Given the description of an element on the screen output the (x, y) to click on. 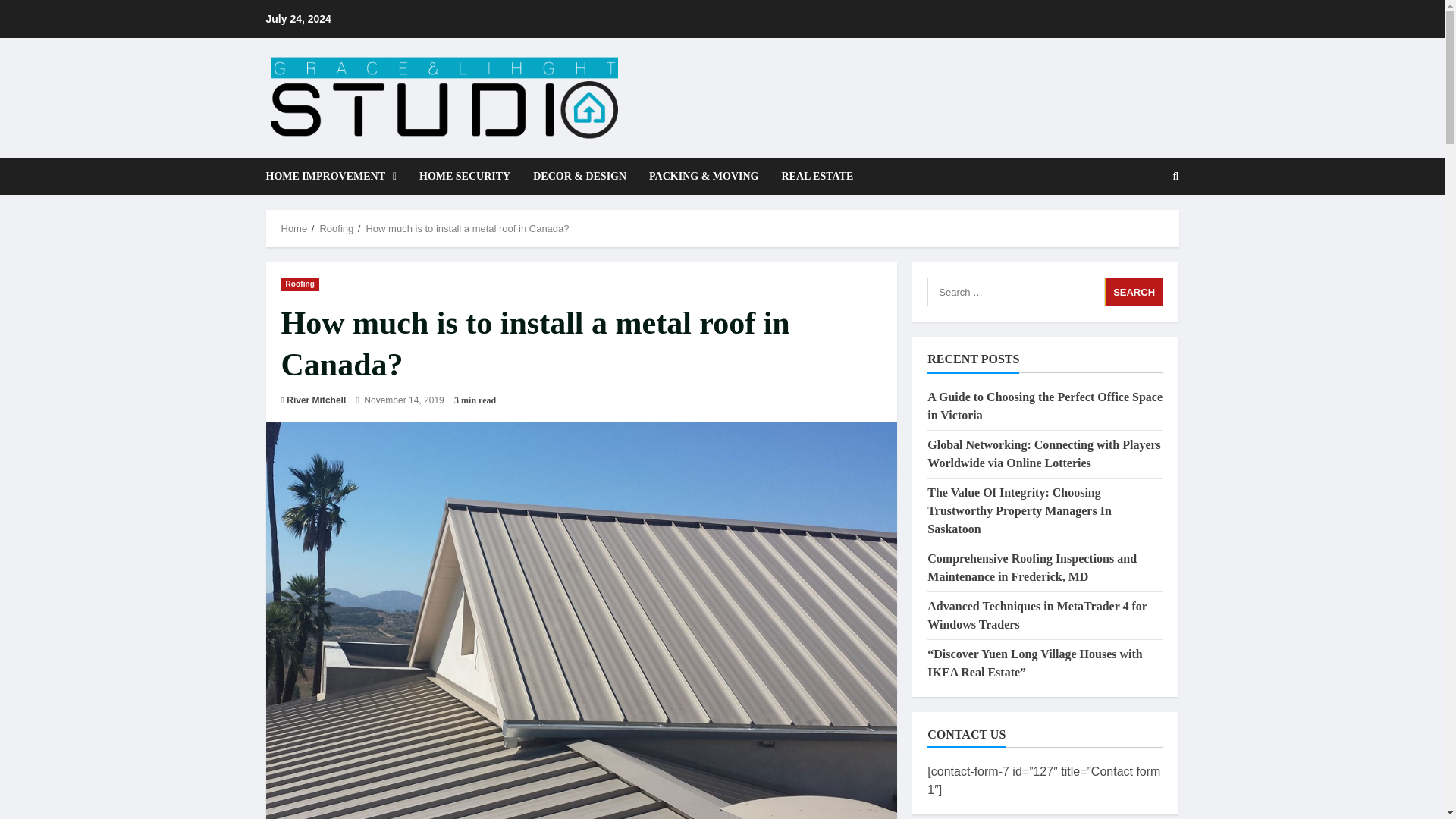
Home (294, 228)
Search (1134, 291)
Roofing (299, 284)
Advanced Techniques in MetaTrader 4 for Windows Traders (1037, 614)
Search (1139, 227)
How much is to install a metal roof in Canada? (467, 228)
REAL ESTATE (811, 176)
Search (1134, 291)
River Mitchell (316, 400)
Search (1134, 291)
Roofing (335, 228)
HOME IMPROVEMENT (335, 176)
